Given the description of an element on the screen output the (x, y) to click on. 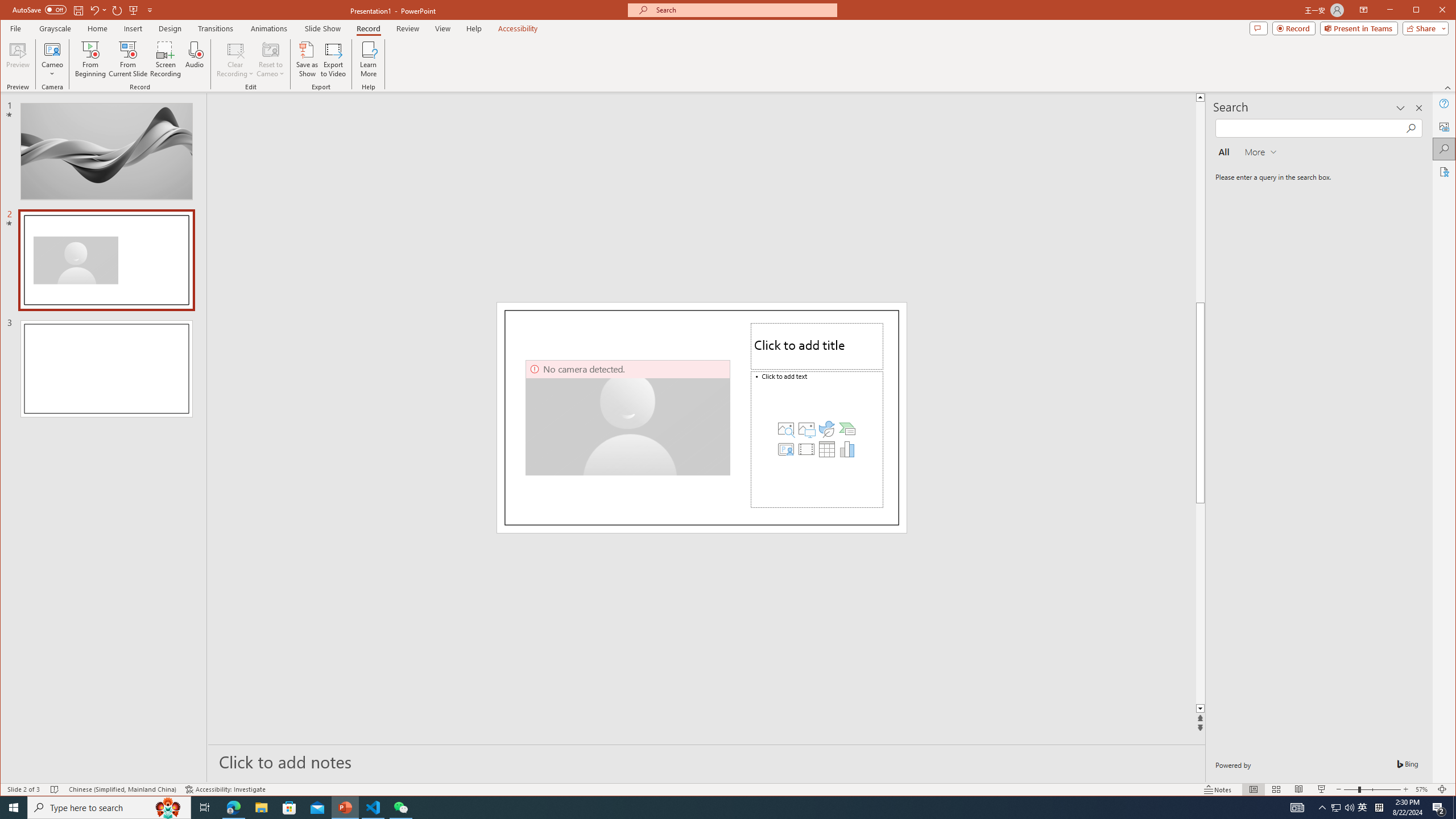
Insert an Icon (826, 428)
Insert Table (826, 449)
